Given the description of an element on the screen output the (x, y) to click on. 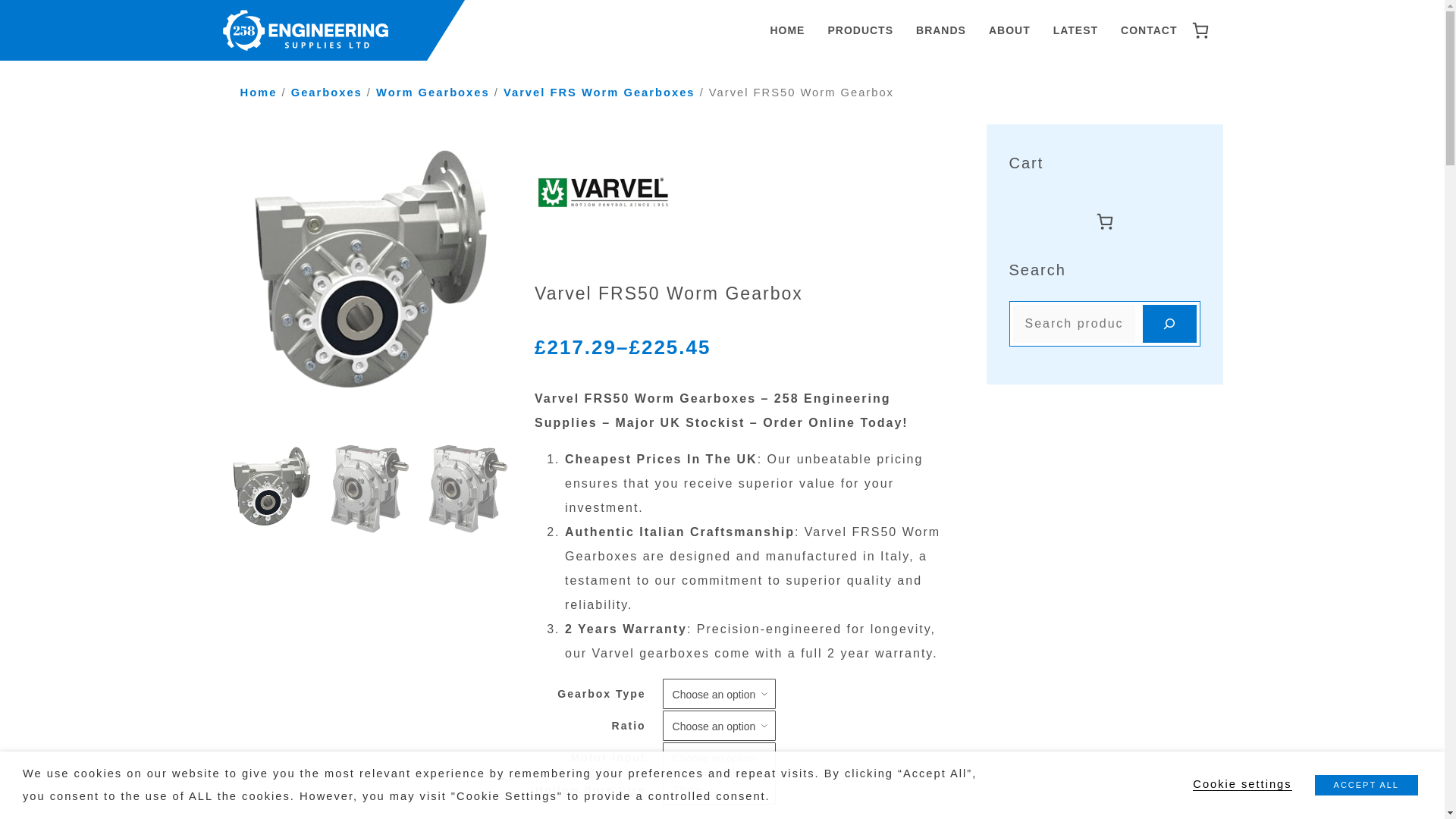
HOME (787, 30)
PRODUCTS (860, 30)
